Given the description of an element on the screen output the (x, y) to click on. 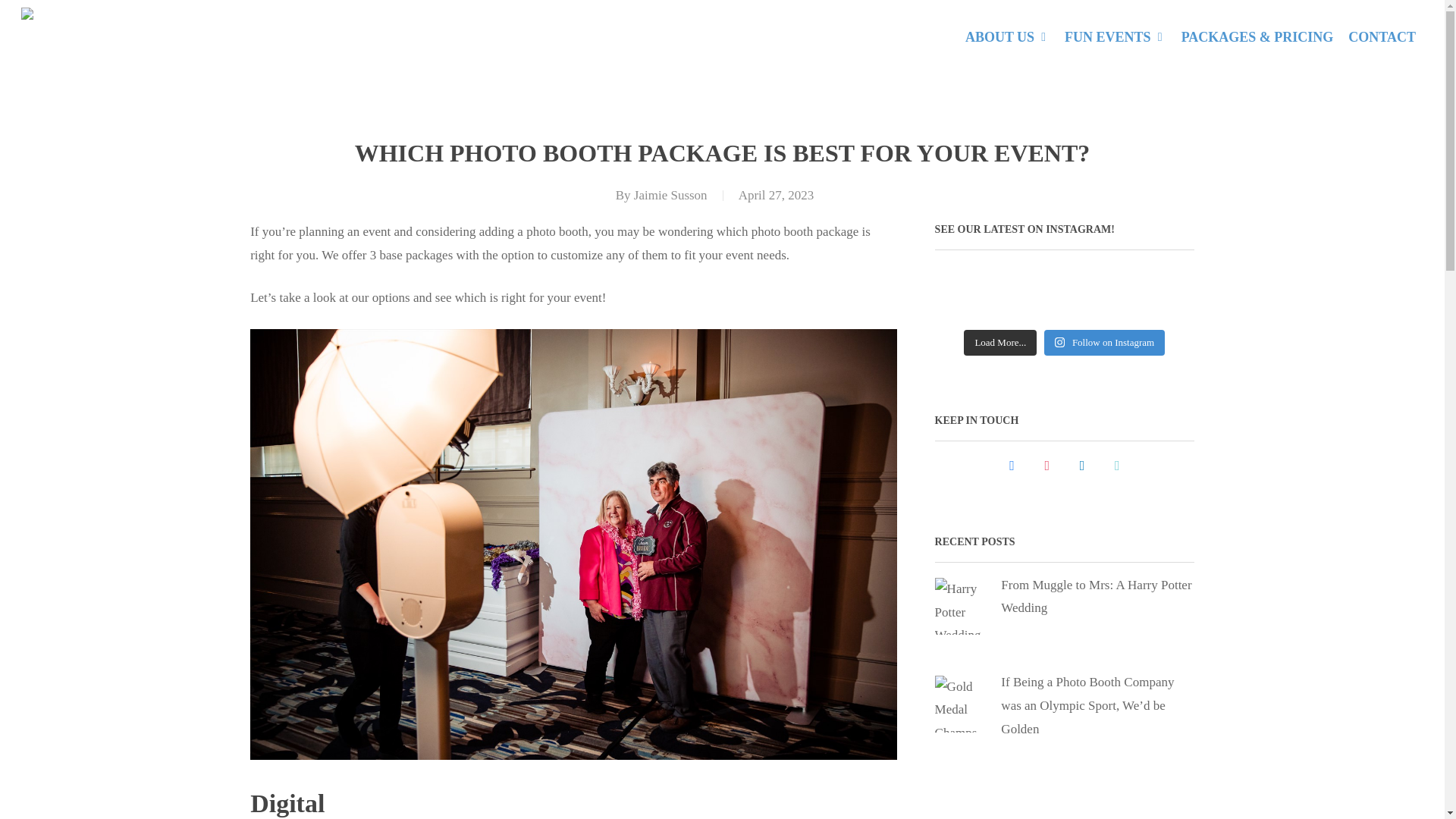
FUN EVENTS (1115, 36)
Posts by Jaimie Susson (670, 195)
ABOUT US (1007, 36)
facebook (1011, 465)
Instagram (1046, 465)
Follow on Instagram (1103, 342)
Load More... (999, 342)
Jaimie Susson (670, 195)
CONTACT (1381, 36)
